Given the description of an element on the screen output the (x, y) to click on. 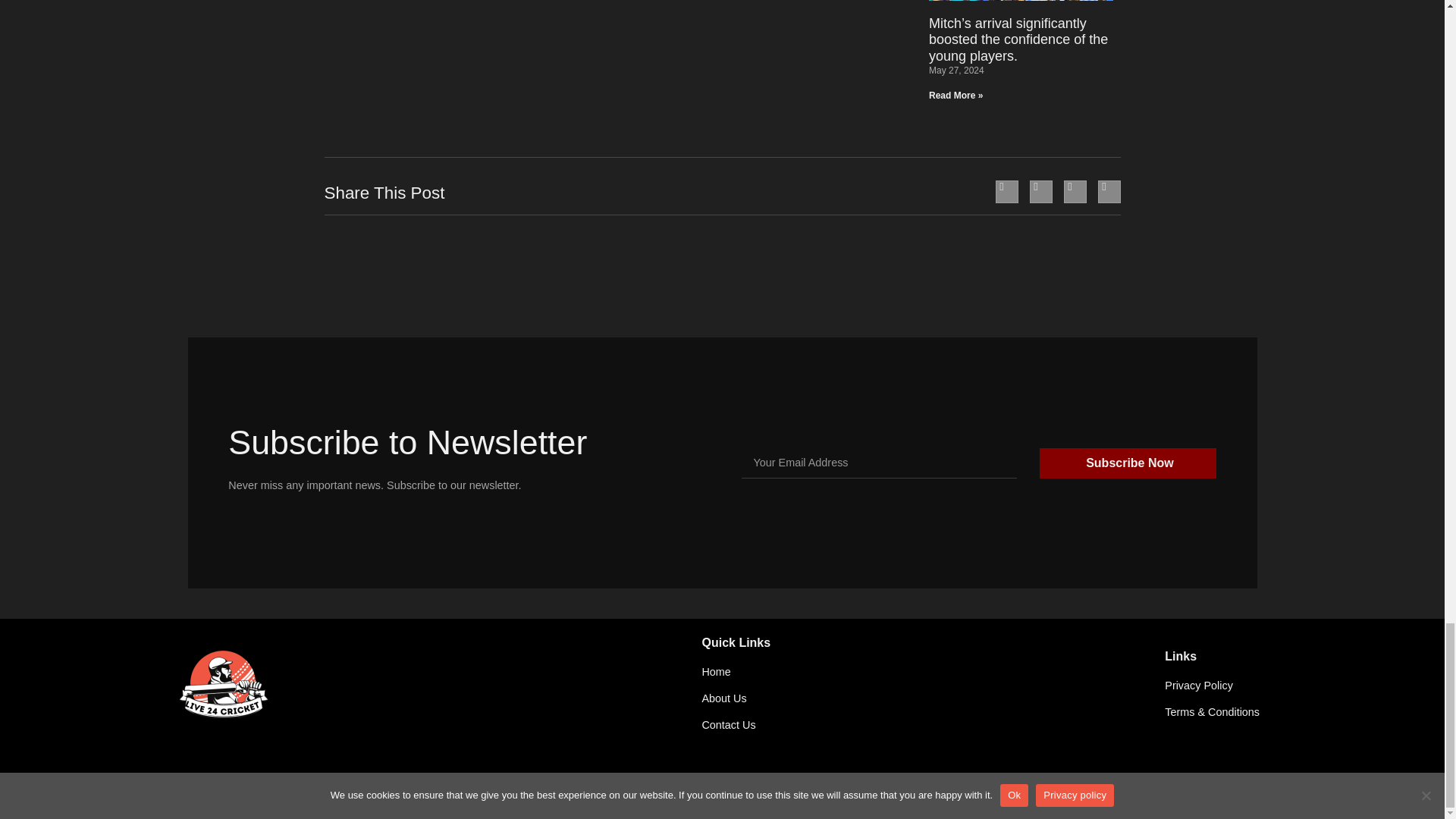
Contact Us (932, 724)
Home (932, 671)
About Us (932, 698)
Subscribe Now (1127, 462)
Privacy Policy (1212, 685)
